Given the description of an element on the screen output the (x, y) to click on. 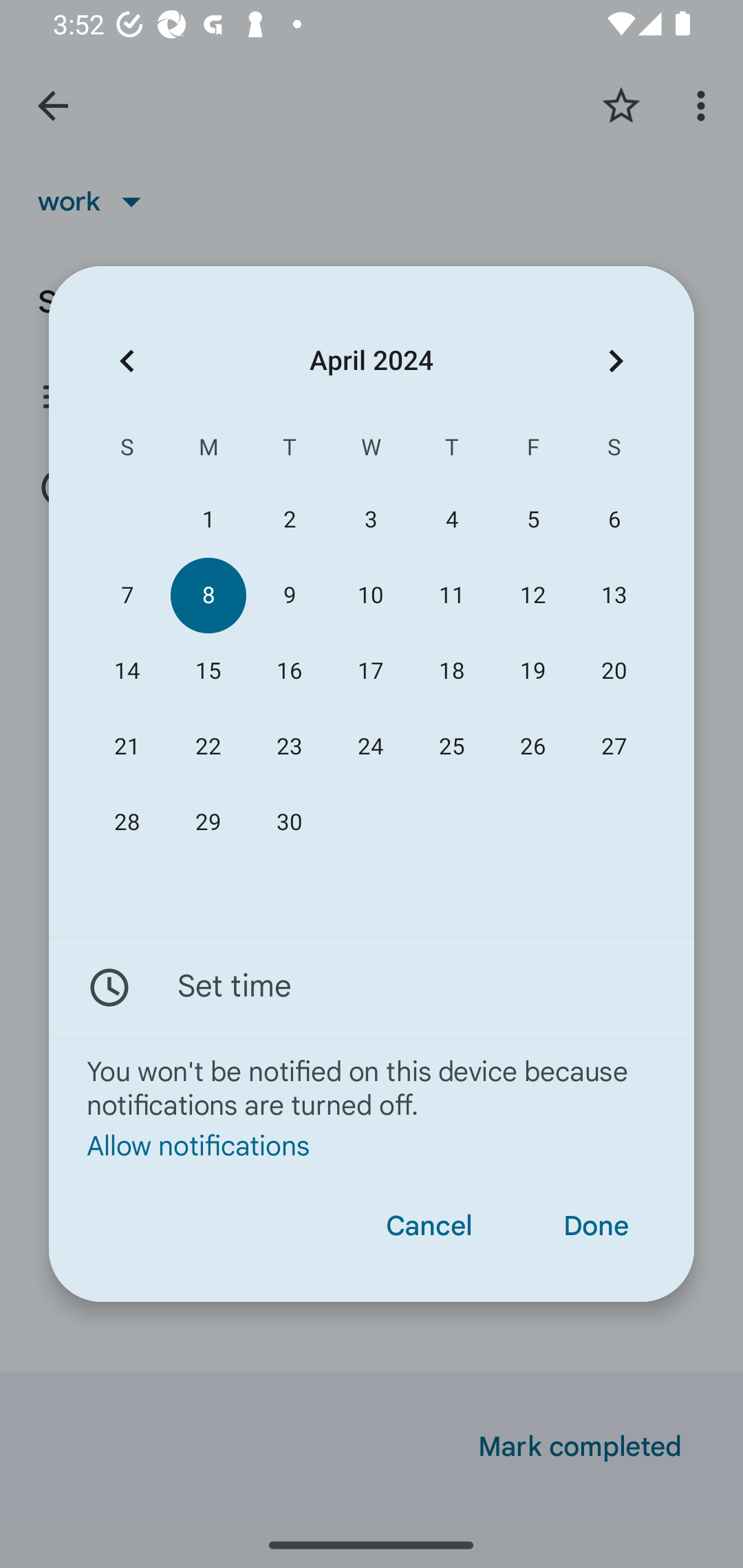
Previous month (126, 360)
Next month (615, 360)
1 01 April 2024 (207, 519)
2 02 April 2024 (288, 519)
3 03 April 2024 (370, 519)
4 04 April 2024 (451, 519)
5 05 April 2024 (532, 519)
6 06 April 2024 (613, 519)
7 07 April 2024 (126, 595)
8 08 April 2024 (207, 595)
9 09 April 2024 (288, 595)
10 10 April 2024 (370, 595)
11 11 April 2024 (451, 595)
12 12 April 2024 (532, 595)
13 13 April 2024 (613, 595)
14 14 April 2024 (126, 670)
15 15 April 2024 (207, 670)
16 16 April 2024 (288, 670)
17 17 April 2024 (370, 670)
18 18 April 2024 (451, 670)
19 19 April 2024 (532, 670)
20 20 April 2024 (613, 670)
21 21 April 2024 (126, 746)
22 22 April 2024 (207, 746)
23 23 April 2024 (288, 746)
24 24 April 2024 (370, 746)
25 25 April 2024 (451, 746)
26 26 April 2024 (532, 746)
27 27 April 2024 (613, 746)
28 28 April 2024 (126, 822)
29 29 April 2024 (207, 822)
30 30 April 2024 (288, 822)
Set time (371, 986)
Allow notifications (371, 1145)
Cancel (429, 1225)
Done (595, 1225)
